Given the description of an element on the screen output the (x, y) to click on. 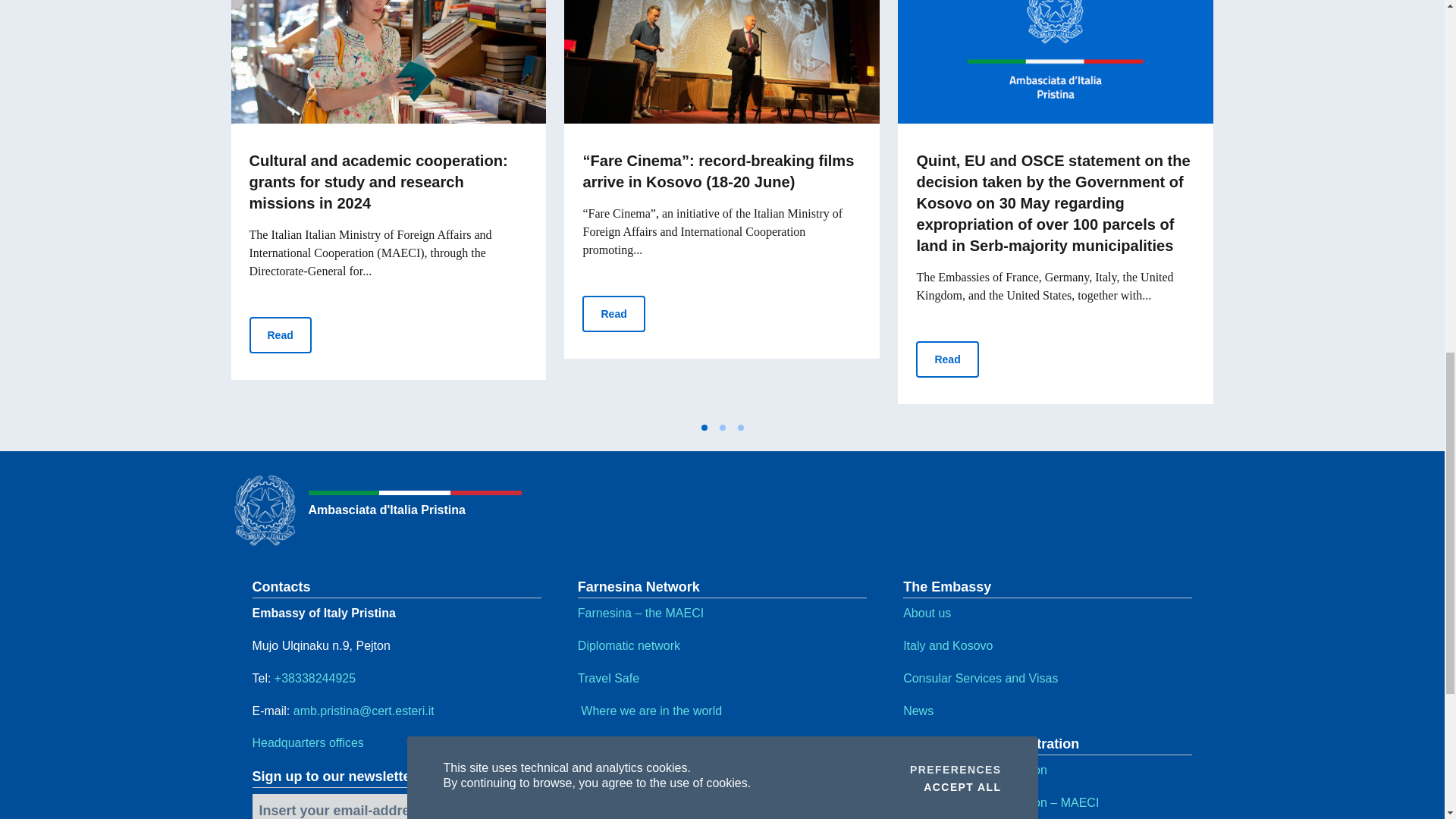
foto22 (721, 61)
young woman flipping through book at bookstall (388, 61)
